Given the description of an element on the screen output the (x, y) to click on. 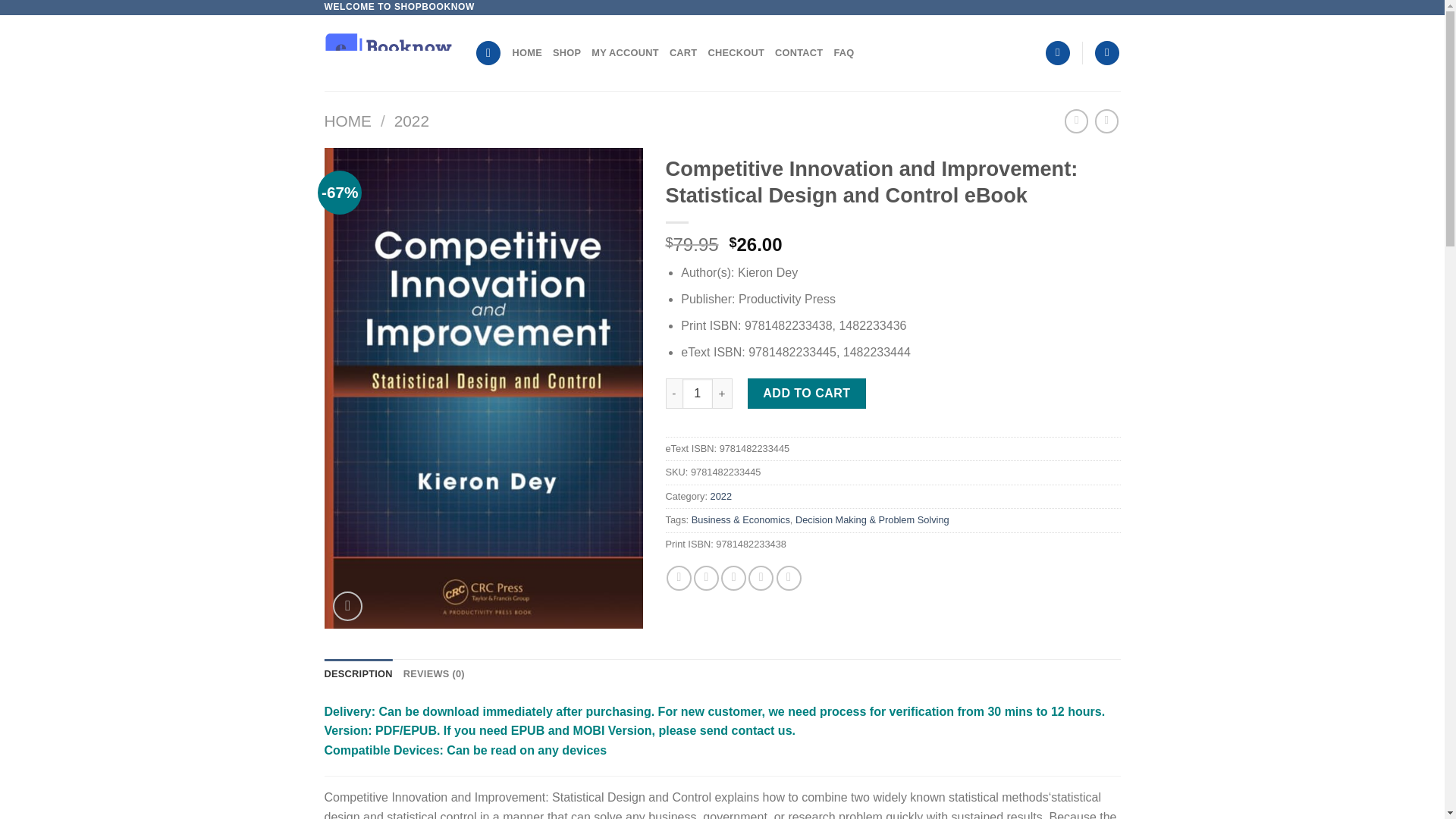
Pin on Pinterest (760, 577)
2022 (411, 120)
MY ACCOUNT (625, 52)
Email to a Friend (732, 577)
HOME (347, 120)
DESCRIPTION (358, 674)
Share on Twitter (706, 577)
Share on LinkedIn (789, 577)
Share on Facebook (678, 577)
ADD TO CART (807, 393)
